Given the description of an element on the screen output the (x, y) to click on. 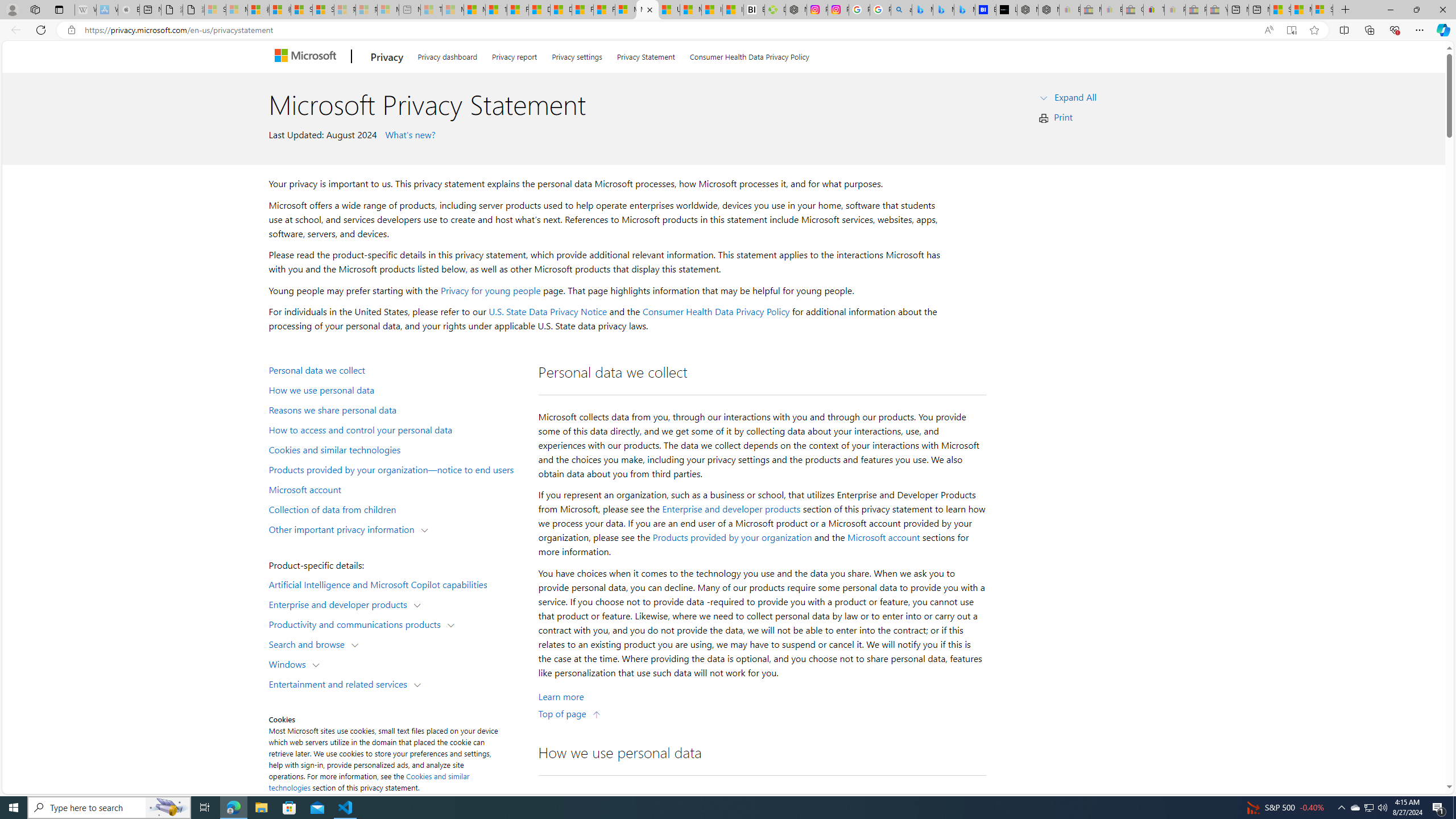
Privacy dashboard (447, 54)
Productivity and communications products (356, 623)
Buy iPad - Apple - Sleeping (128, 9)
Microsoft account | Account Checkup - Sleeping (387, 9)
Shanghai, China hourly forecast | Microsoft Weather (1280, 9)
Privacy settings (576, 54)
Consumer Health Data Privacy Policy (748, 54)
Privacy for young people (489, 290)
Products provided by your organization (732, 537)
